Given the description of an element on the screen output the (x, y) to click on. 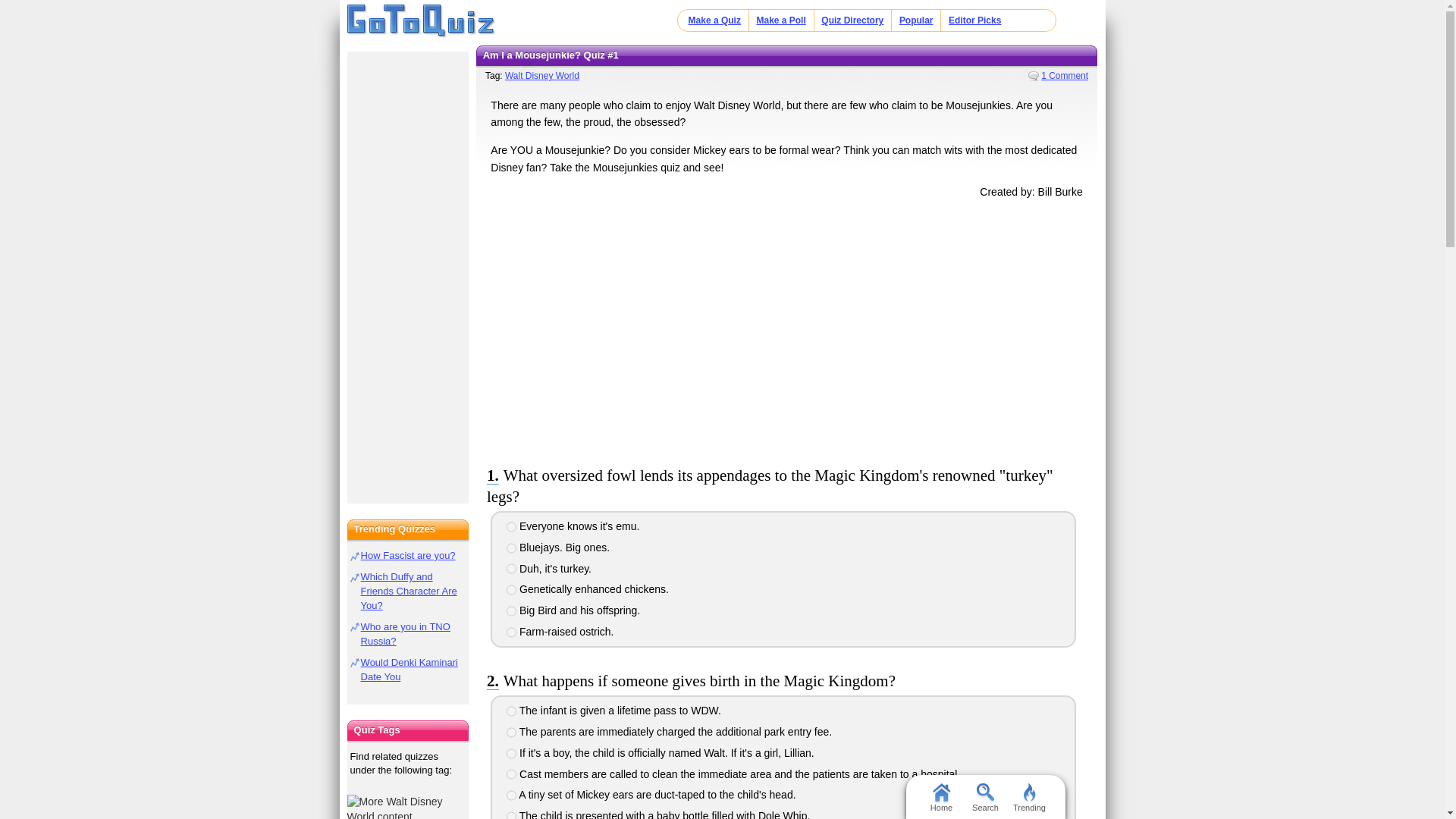
Search (984, 796)
1 Comment (1057, 75)
Walt Disney World (542, 75)
1 (511, 710)
3 (511, 753)
Which Duffy and Friends Character Are You? (409, 590)
Who are you in TNO Russia? (405, 633)
Trending (1029, 796)
4 (511, 589)
Would Denki Kaminari Date You (409, 669)
